Given the description of an element on the screen output the (x, y) to click on. 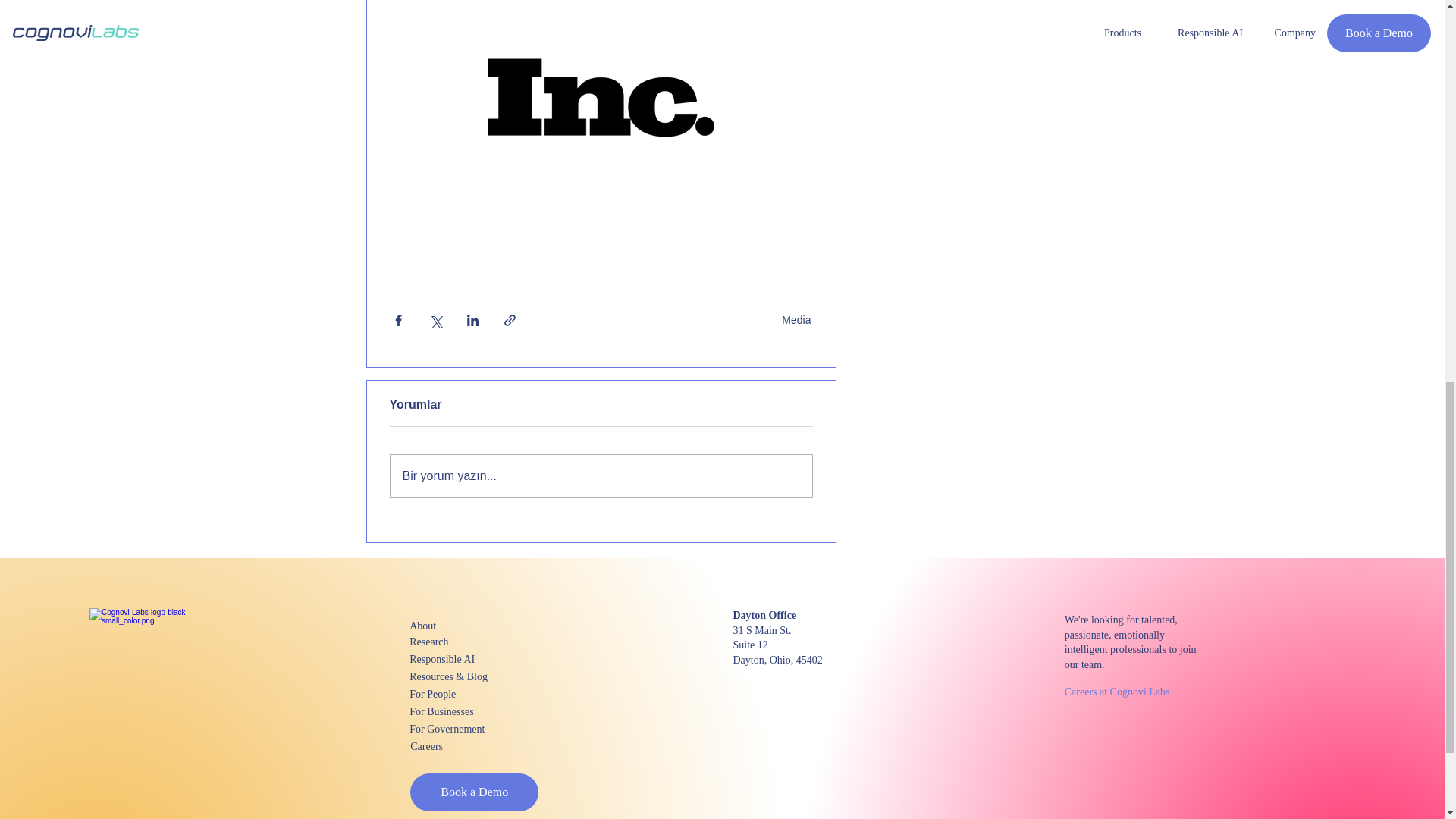
Careers (464, 746)
About (463, 625)
Book a Demo (474, 792)
Media (795, 319)
Research (463, 641)
Careers at Cognovi Labs (1118, 692)
For People (463, 693)
Responsible AI (463, 659)
For Governement (463, 728)
For Businesses (463, 711)
